Given the description of an element on the screen output the (x, y) to click on. 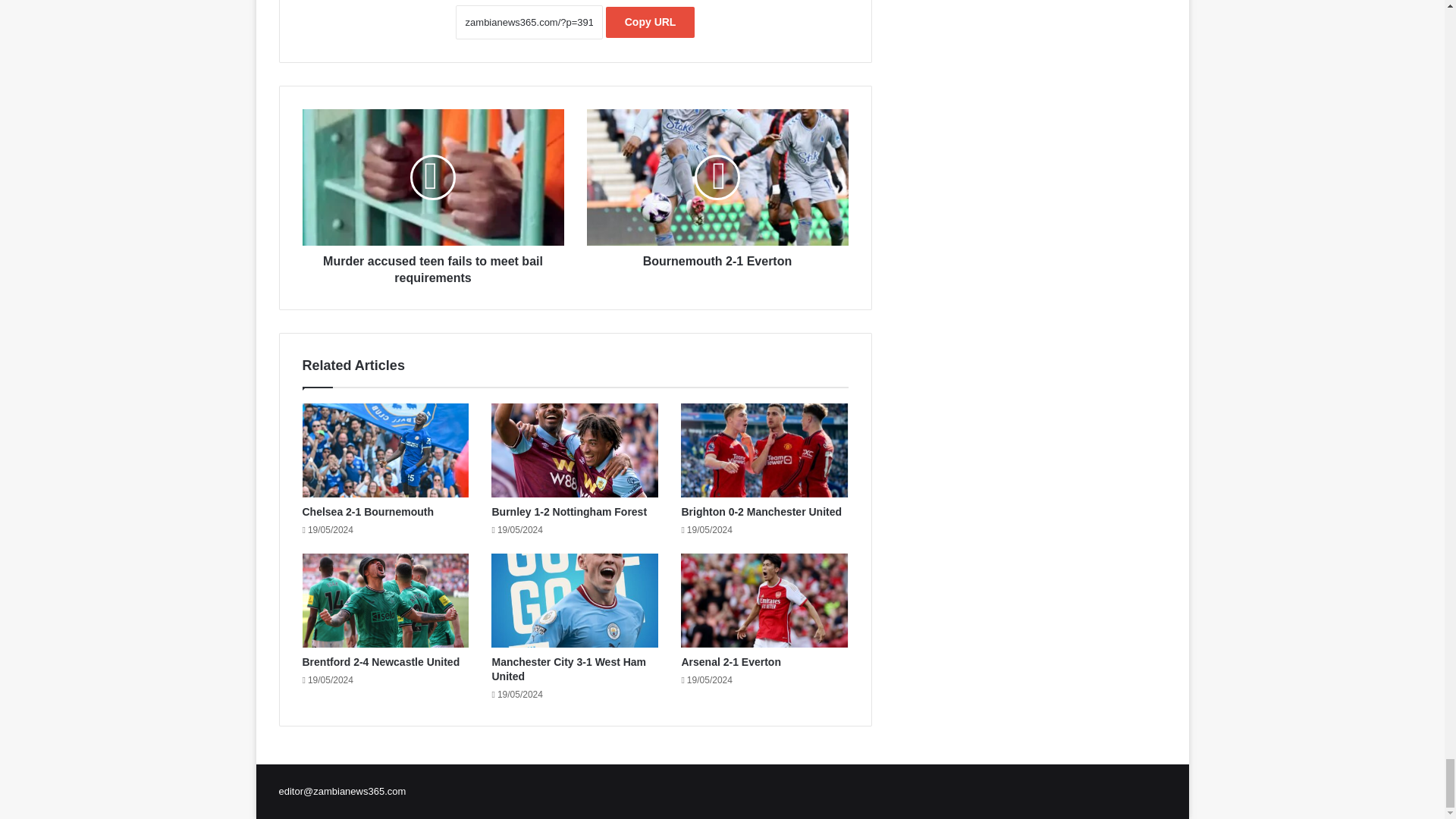
Chelsea 2-1 Bournemouth (366, 511)
Murder accused teen fails to meet bail requirements (432, 176)
Burnley 1-2 Nottingham Forest (569, 511)
Bournemouth 2-1 Everton (717, 176)
Bournemouth 2-1 Everton (717, 257)
Brighton 0-2 Manchester United (761, 511)
Brentford 2-4 Newcastle United (380, 662)
Murder accused teen fails to meet bail requirements (432, 265)
Copy URL (650, 21)
